Given the description of an element on the screen output the (x, y) to click on. 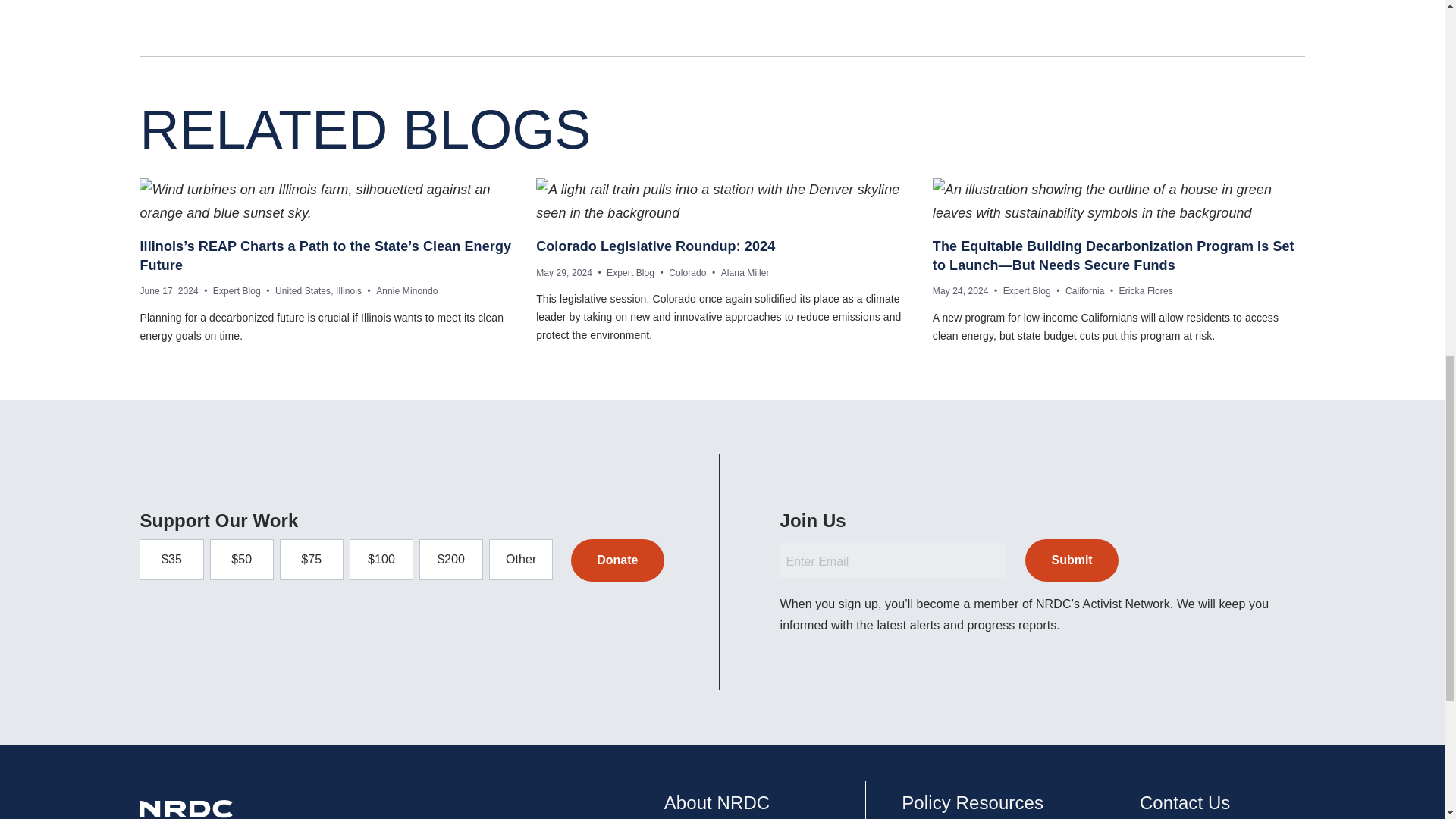
NRDC Logo (187, 809)
